Given the description of an element on the screen output the (x, y) to click on. 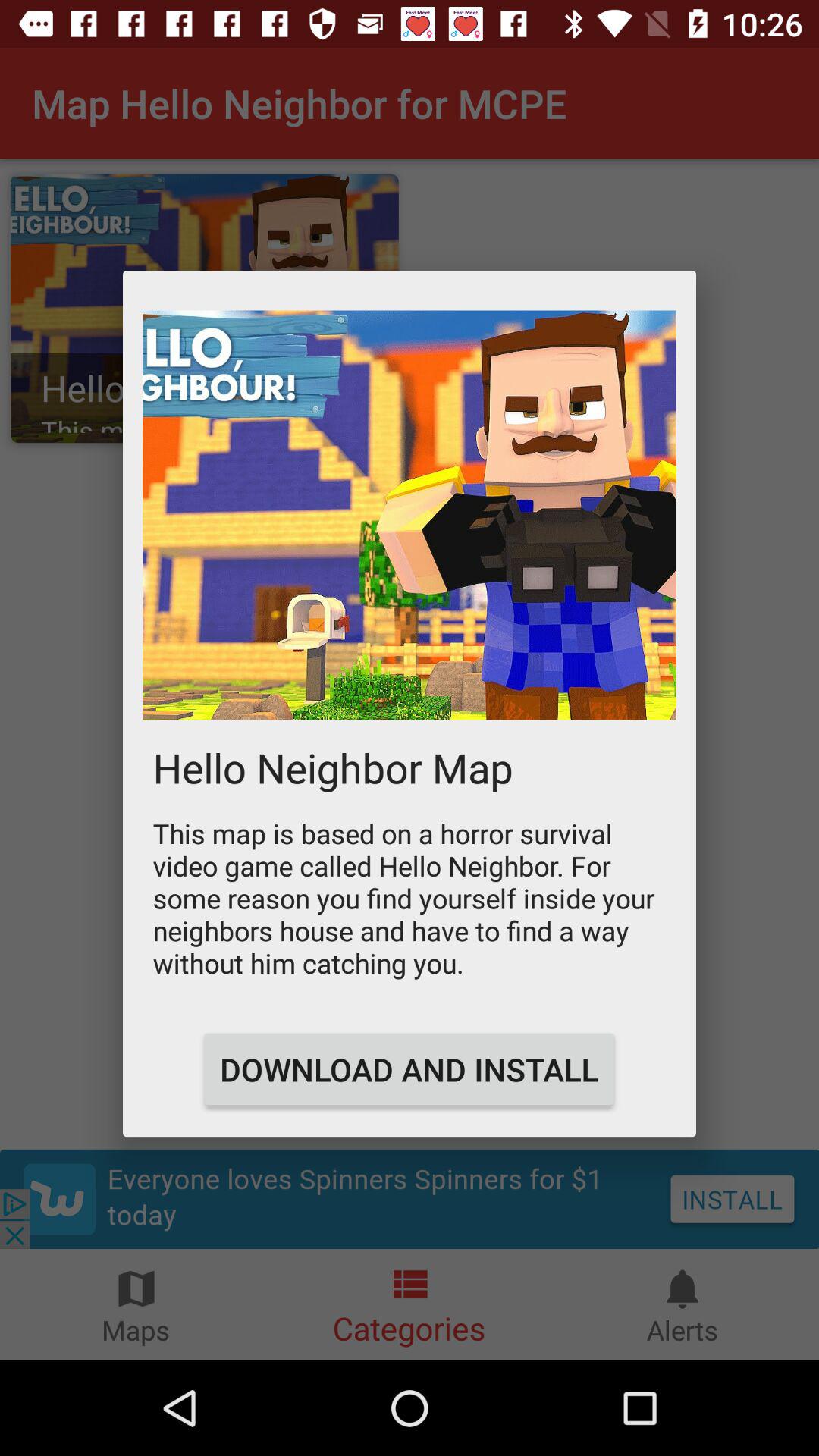
scroll until download and install (409, 1069)
